Given the description of an element on the screen output the (x, y) to click on. 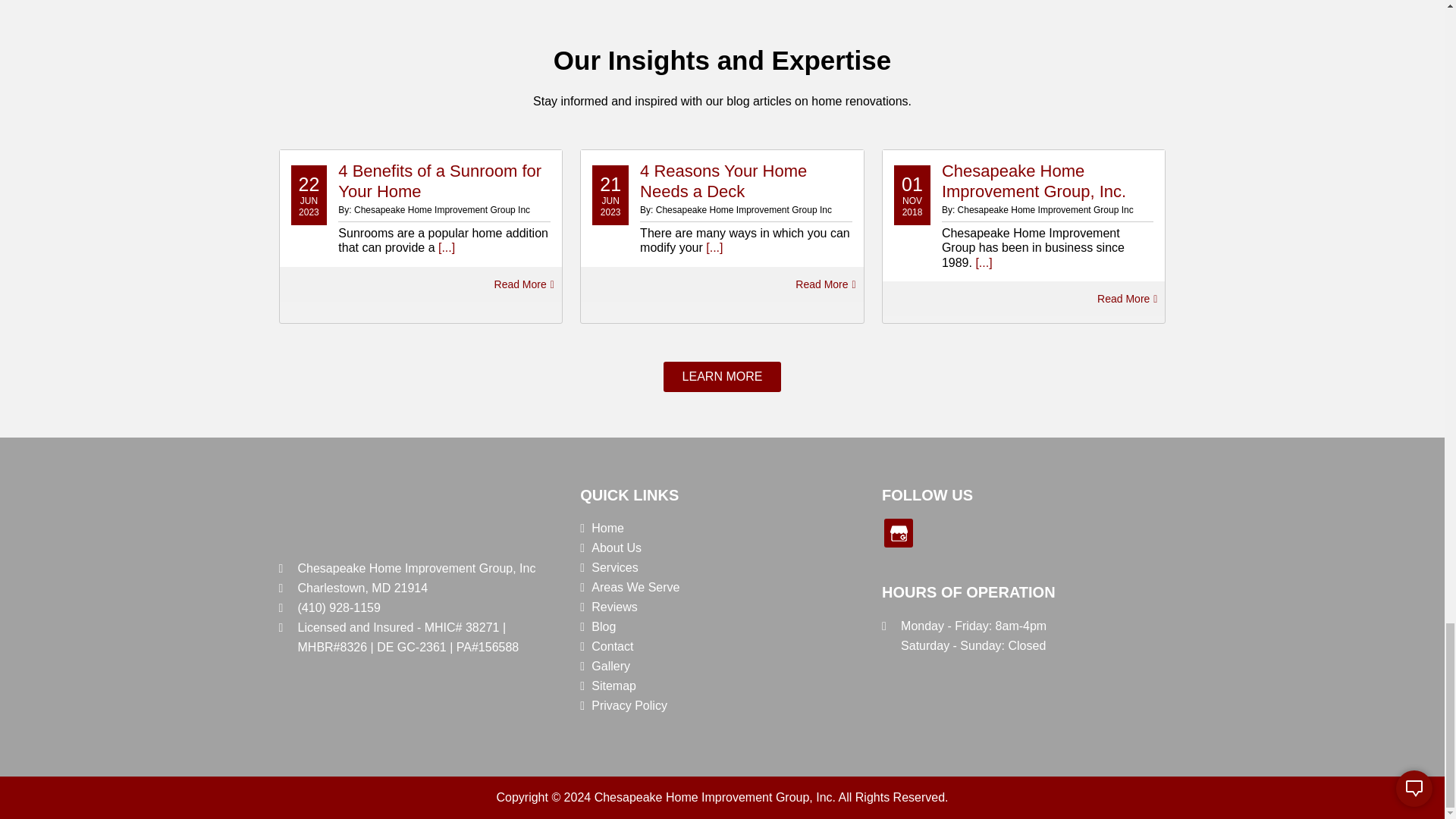
Google Business Profile (897, 532)
Chesapeake Home Improvement Group, Inc (311, 515)
